Given the description of an element on the screen output the (x, y) to click on. 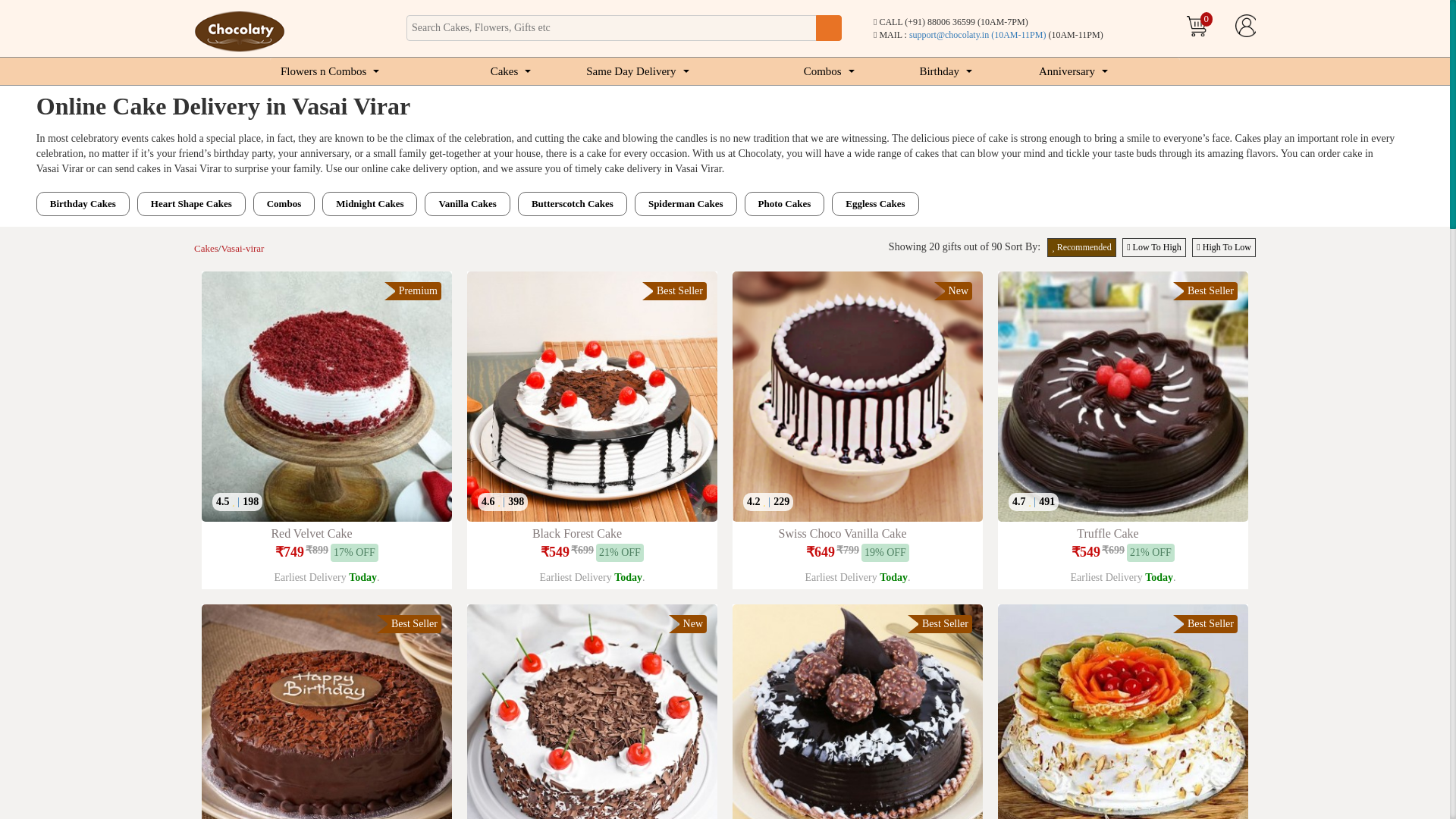
Swiss Choco Vanilla Cake (857, 396)
Creamy Vanilla Fruit Cake (1122, 711)
Choco Ferrero Cake (857, 711)
Black Forest Cake (592, 396)
Truffle Cake (1122, 396)
Chocolaty (239, 31)
Birthday Chocolate Cake (326, 711)
Choco Black Forest Cake (592, 711)
Red Velvet Cake (326, 396)
